Given the description of an element on the screen output the (x, y) to click on. 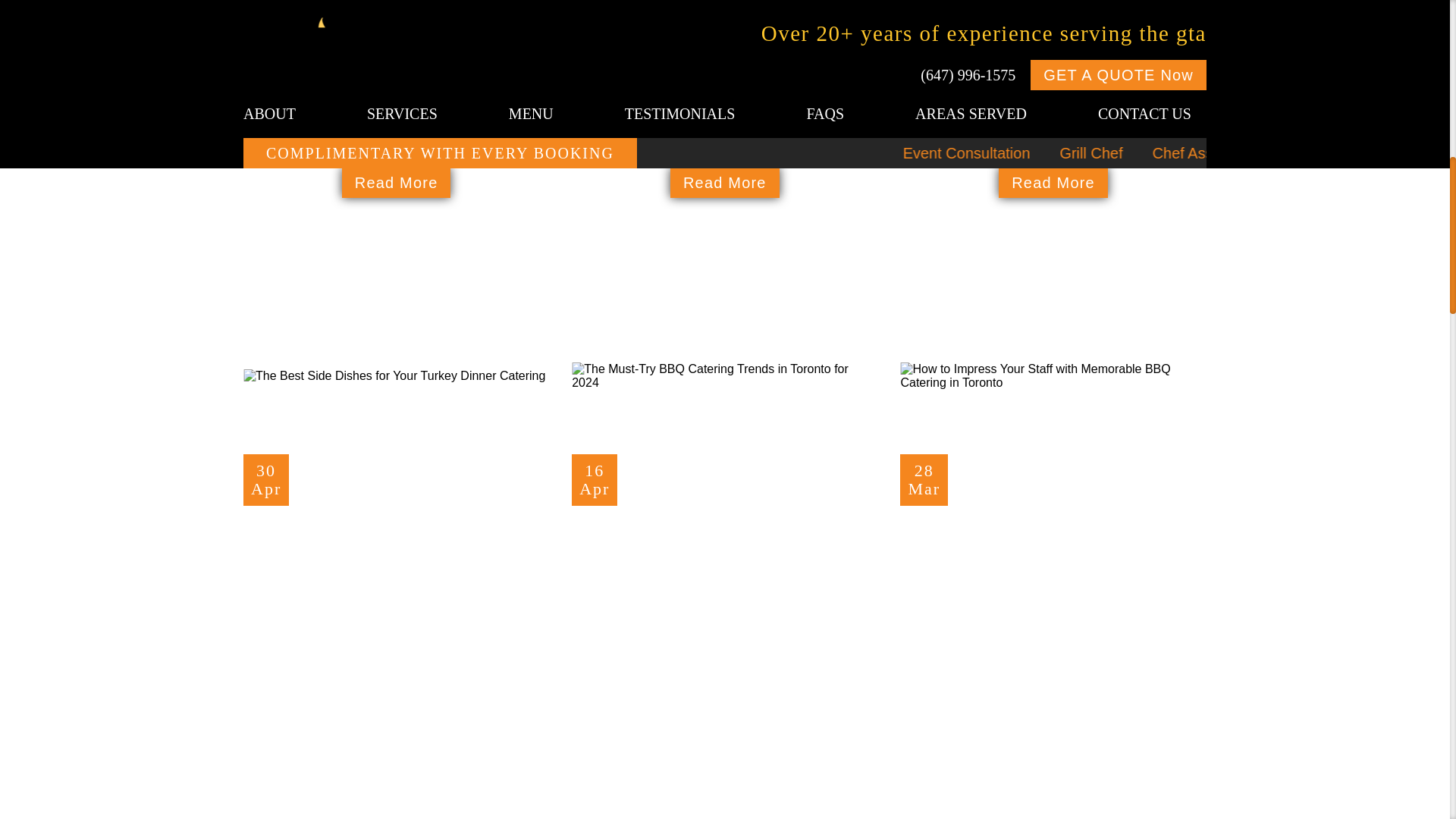
The Best Side Dishes for Your Turkey Dinner Catering (396, 545)
staff appreciation BBQs (1052, 376)
The Must-Try BBQ Catering Trends in Toronto for 2024 (1068, 773)
Read More (724, 545)
Read More (1053, 182)
Read More (724, 376)
